Given the description of an element on the screen output the (x, y) to click on. 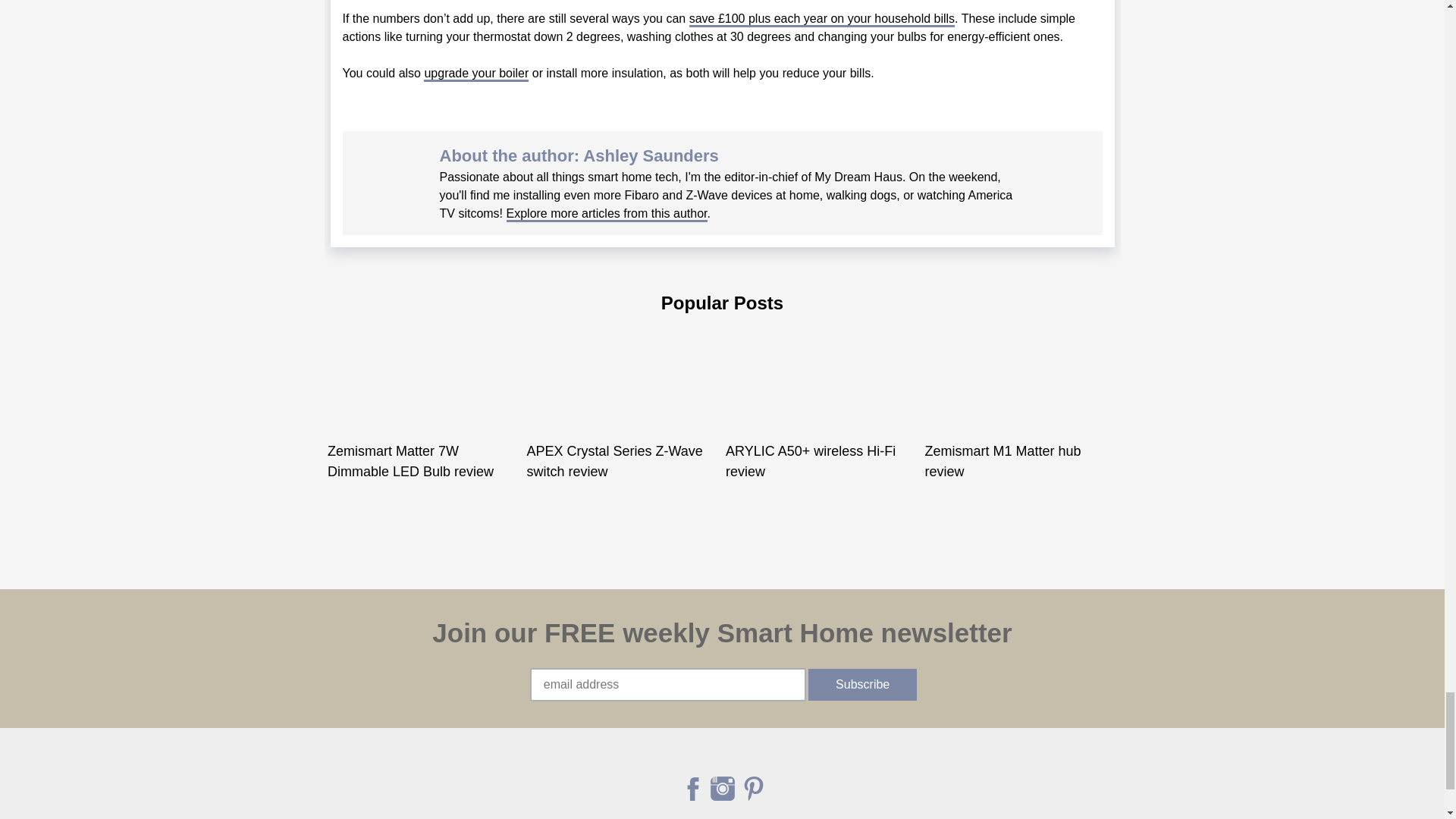
Subscribe (862, 685)
Explore more articles from this author (606, 214)
Zemismart Matter 7W Dimmable LED Bulb review (410, 461)
upgrade your boiler (475, 73)
Zemismart M1 Matter hub review (1002, 461)
APEX Crystal Series Z-Wave switch review (613, 461)
